Given the description of an element on the screen output the (x, y) to click on. 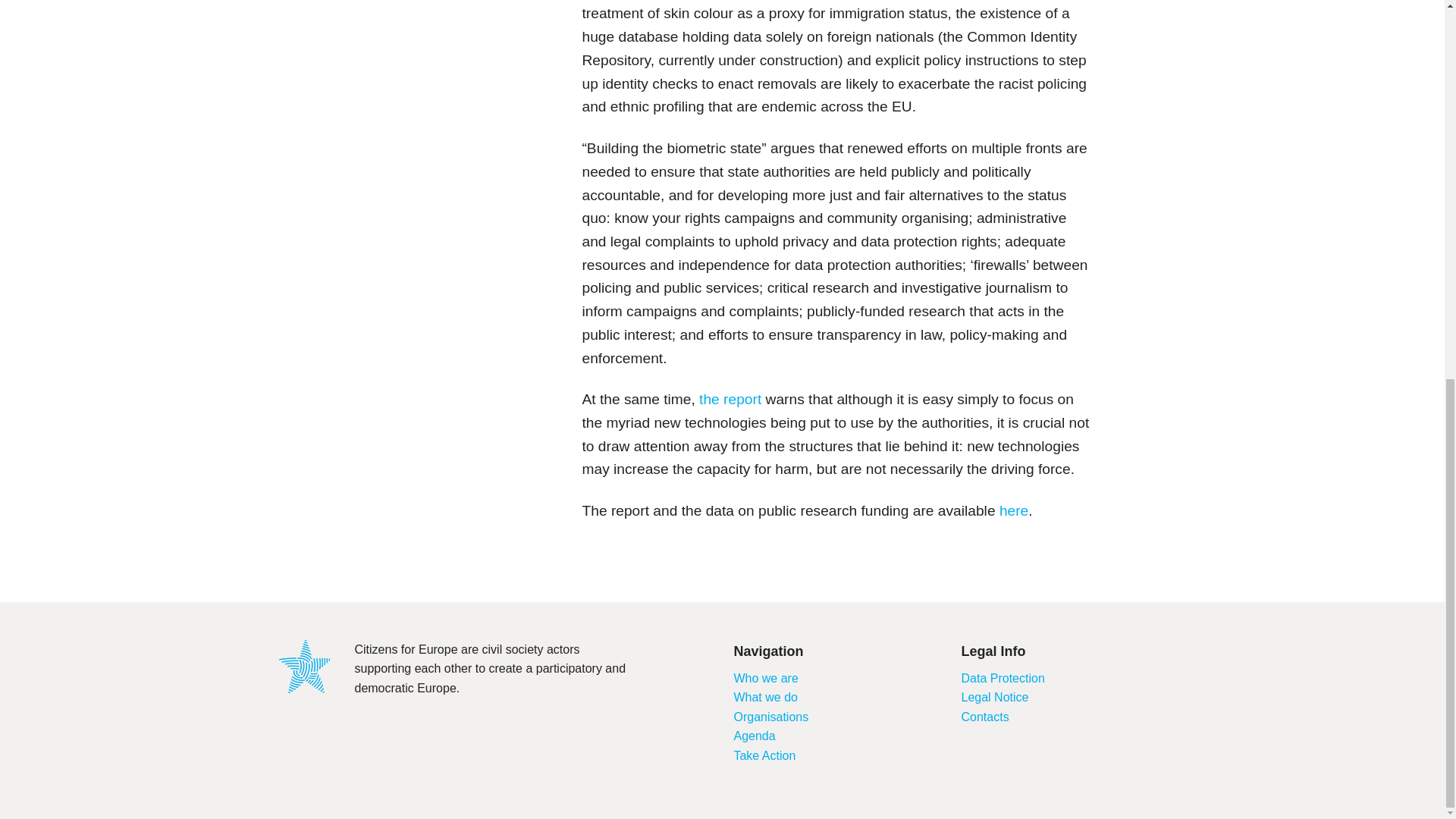
Who we are (765, 677)
Organisations (770, 716)
here (1012, 510)
the report (729, 399)
What we do (764, 697)
